Given the description of an element on the screen output the (x, y) to click on. 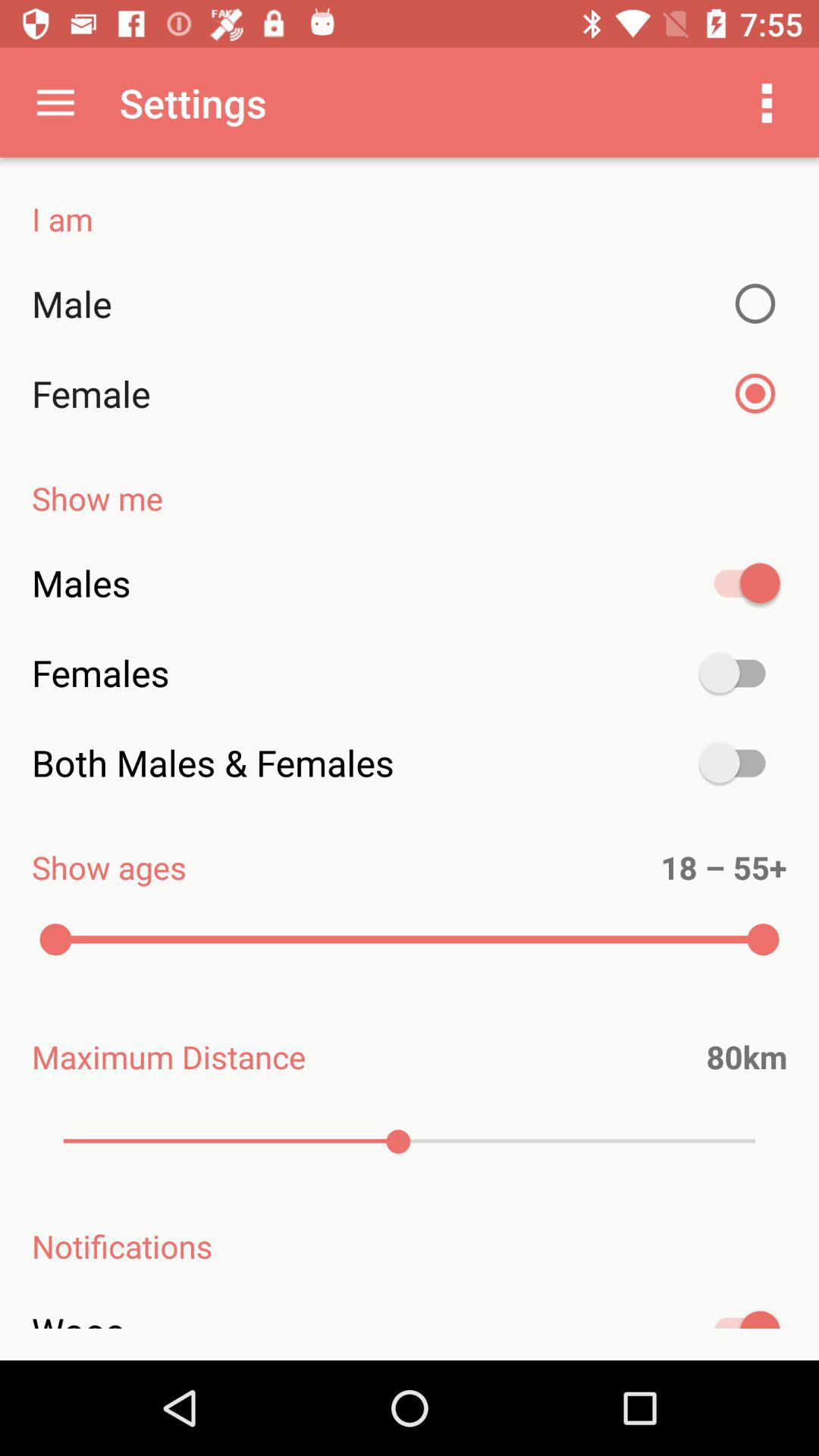
jump until both males & females icon (409, 762)
